Given the description of an element on the screen output the (x, y) to click on. 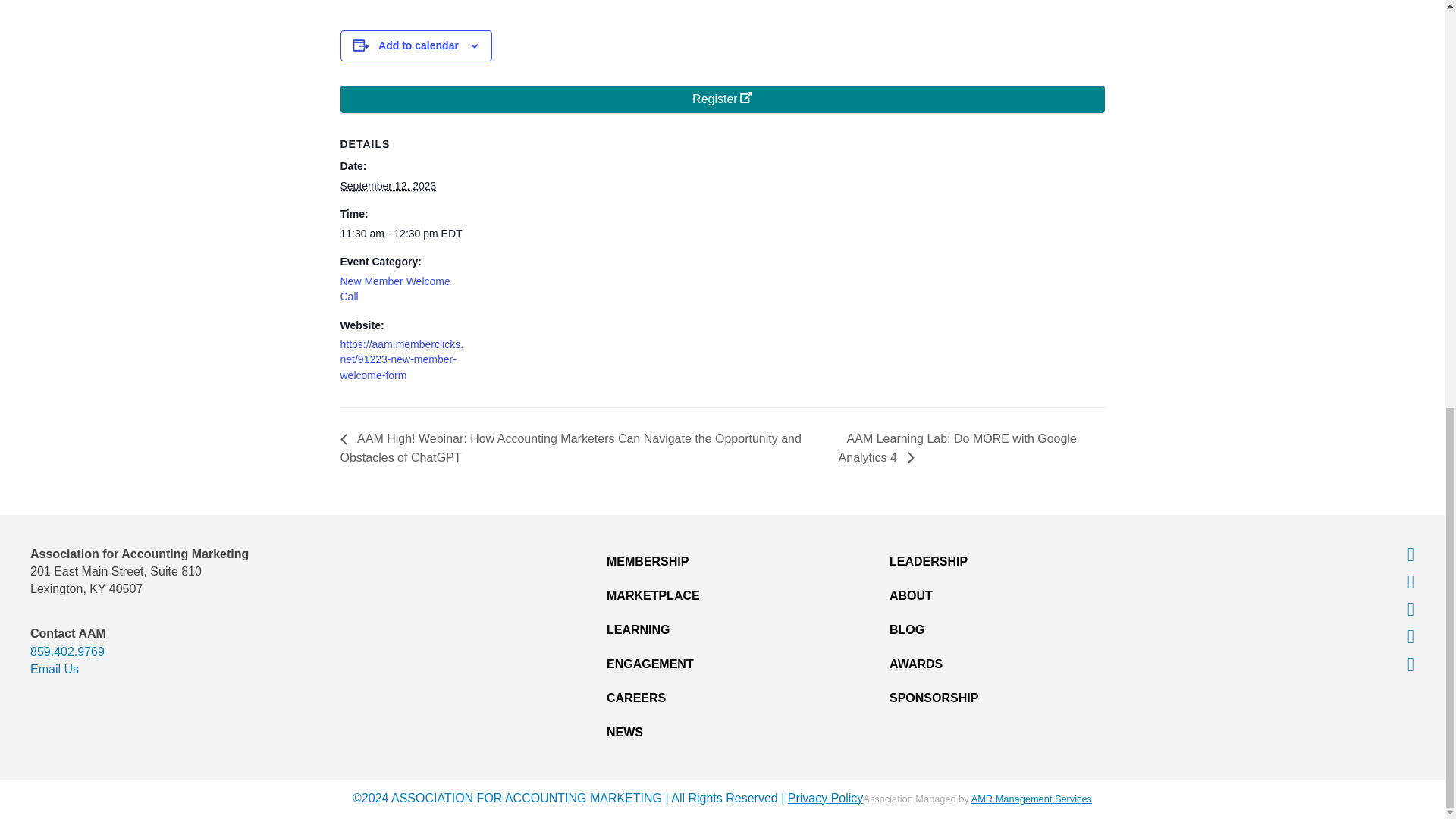
2023-09-12 (403, 233)
2023-09-12 (387, 185)
